Given the description of an element on the screen output the (x, y) to click on. 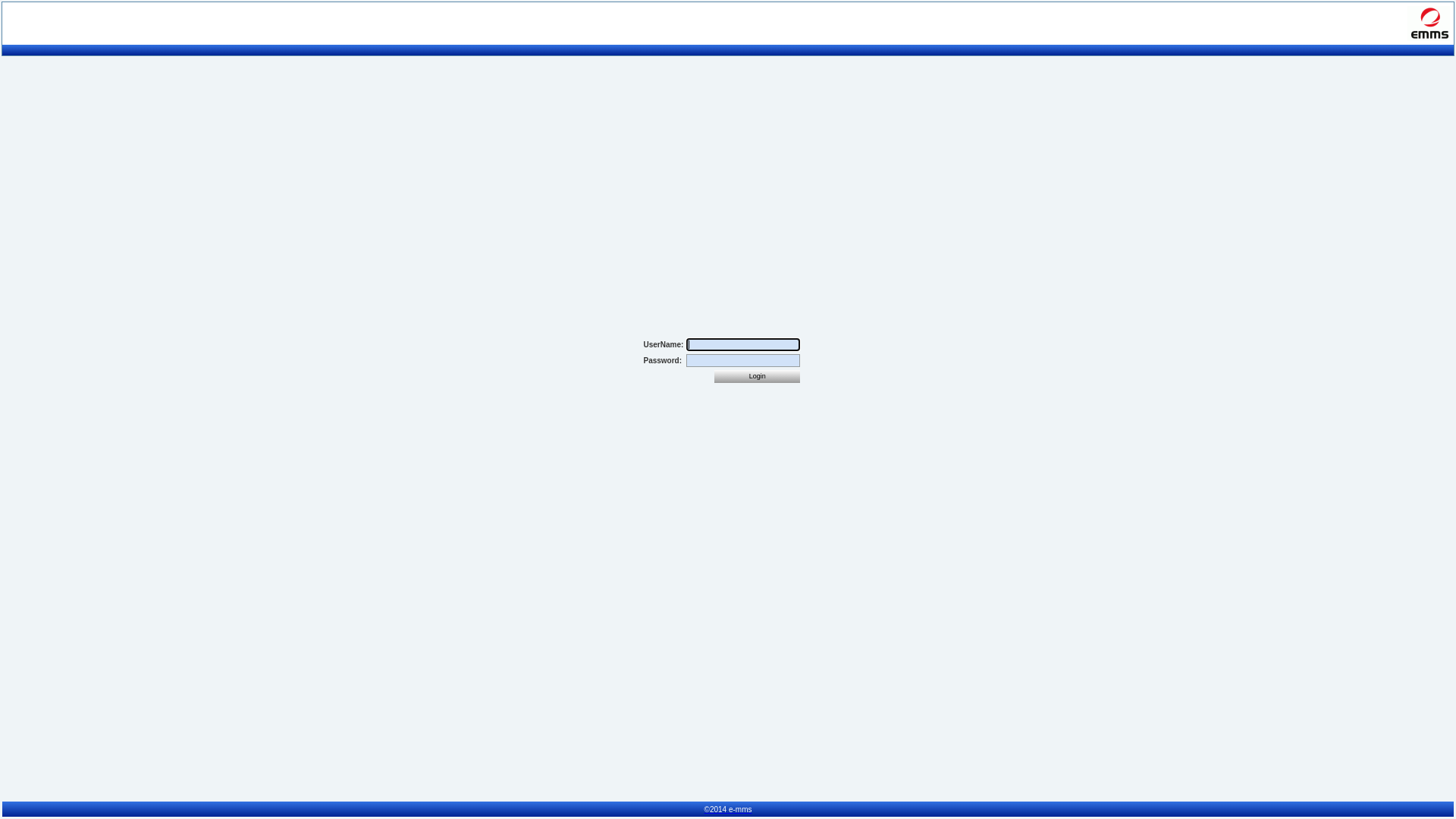
Login Element type: text (757, 376)
